Given the description of an element on the screen output the (x, y) to click on. 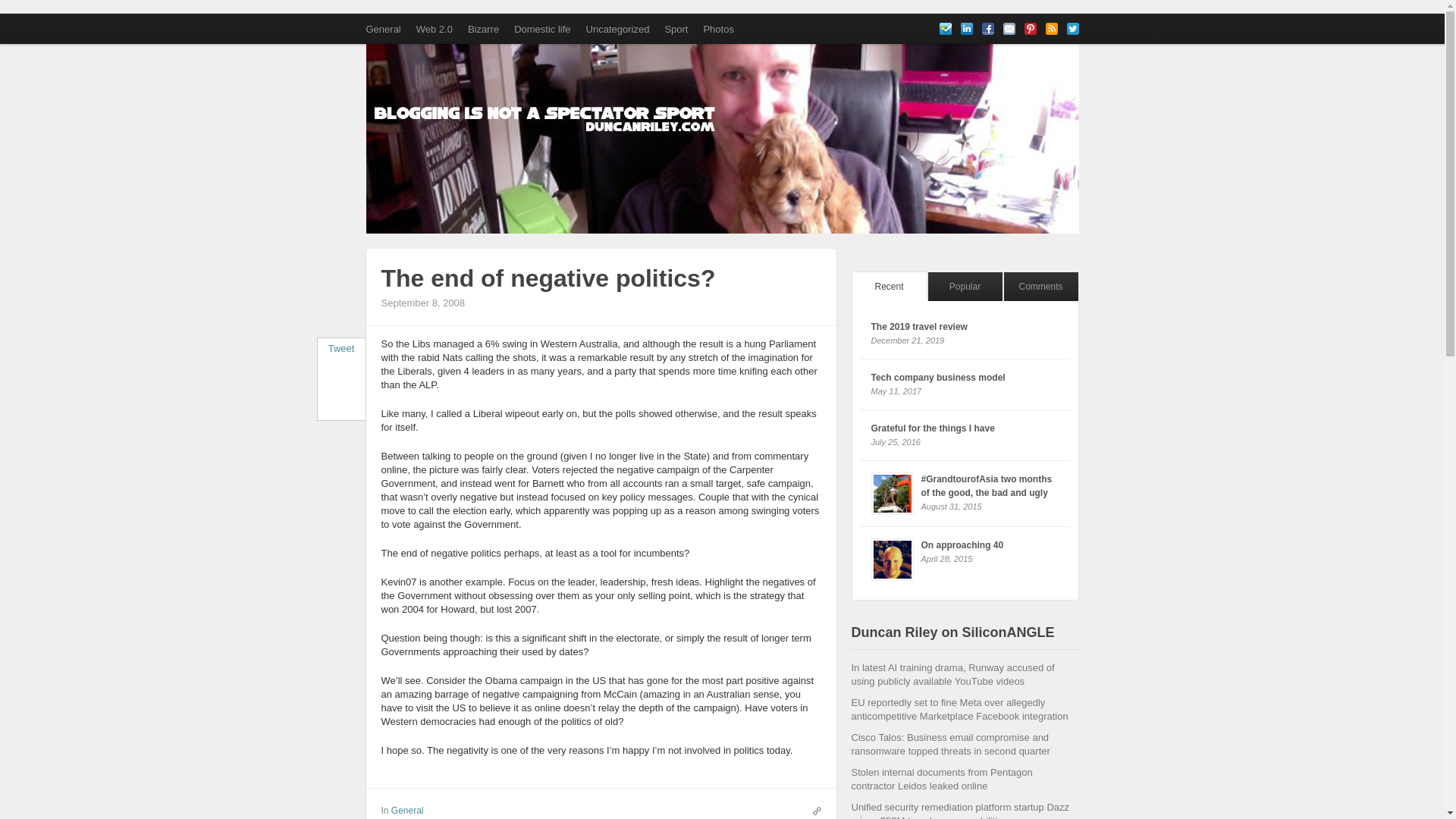
Recent (888, 286)
permalink  (813, 809)
Domestic Life (542, 28)
Photos (718, 28)
Uncategorized (618, 28)
Tech company business model (937, 377)
Tweet (342, 348)
The 2019 travel review (918, 326)
Photos (718, 28)
Sport (675, 28)
Sport (675, 28)
Bizarre (483, 28)
Uncategorized (618, 28)
General (407, 810)
